Given the description of an element on the screen output the (x, y) to click on. 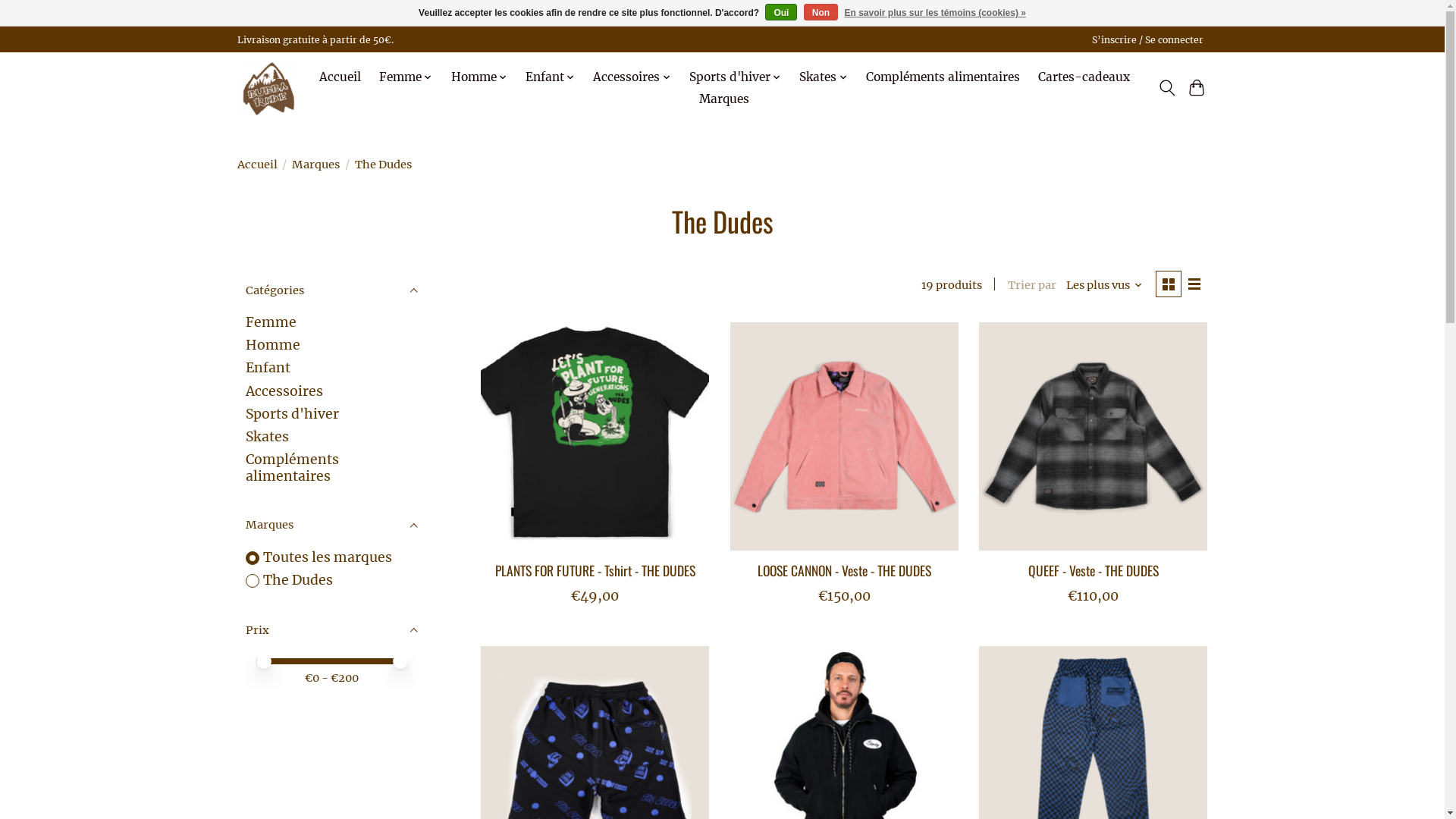
Homme Element type: text (478, 77)
Enfant Element type: text (267, 367)
Sports d'hiver Element type: text (735, 77)
The Dudes QUEEF - Veste - THE DUDES Element type: hover (1093, 436)
Femme Element type: text (270, 321)
Marques Element type: text (315, 164)
Skates Element type: text (266, 436)
Accueil Element type: text (339, 77)
LOOSE CANNON - Veste - THE DUDES Element type: text (844, 570)
Les plus vus Element type: text (1104, 284)
Marques Element type: text (723, 98)
Prix Element type: text (331, 630)
Marques Element type: text (331, 524)
PLANTS FOR FUTURE - Tshirt - THE DUDES Element type: text (595, 570)
Enfant Element type: text (550, 77)
Accessoires Element type: text (284, 390)
The Dudes PLANTS FOR FUTURE - Tshirt - THE DUDES Element type: hover (594, 436)
QUEEF - Veste - THE DUDES Element type: text (1093, 570)
Homme Element type: text (272, 344)
Sports d'hiver Element type: text (291, 413)
Femme Element type: text (405, 77)
Accessoires Element type: text (631, 77)
Oui Element type: text (781, 11)
The Dudes LOOSE CANNON - Veste - THE DUDES Element type: hover (844, 436)
Accueil Element type: text (256, 164)
Non Element type: text (820, 11)
Skates Element type: text (823, 77)
Cartes-cadeaux Element type: text (1083, 77)
